Given the description of an element on the screen output the (x, y) to click on. 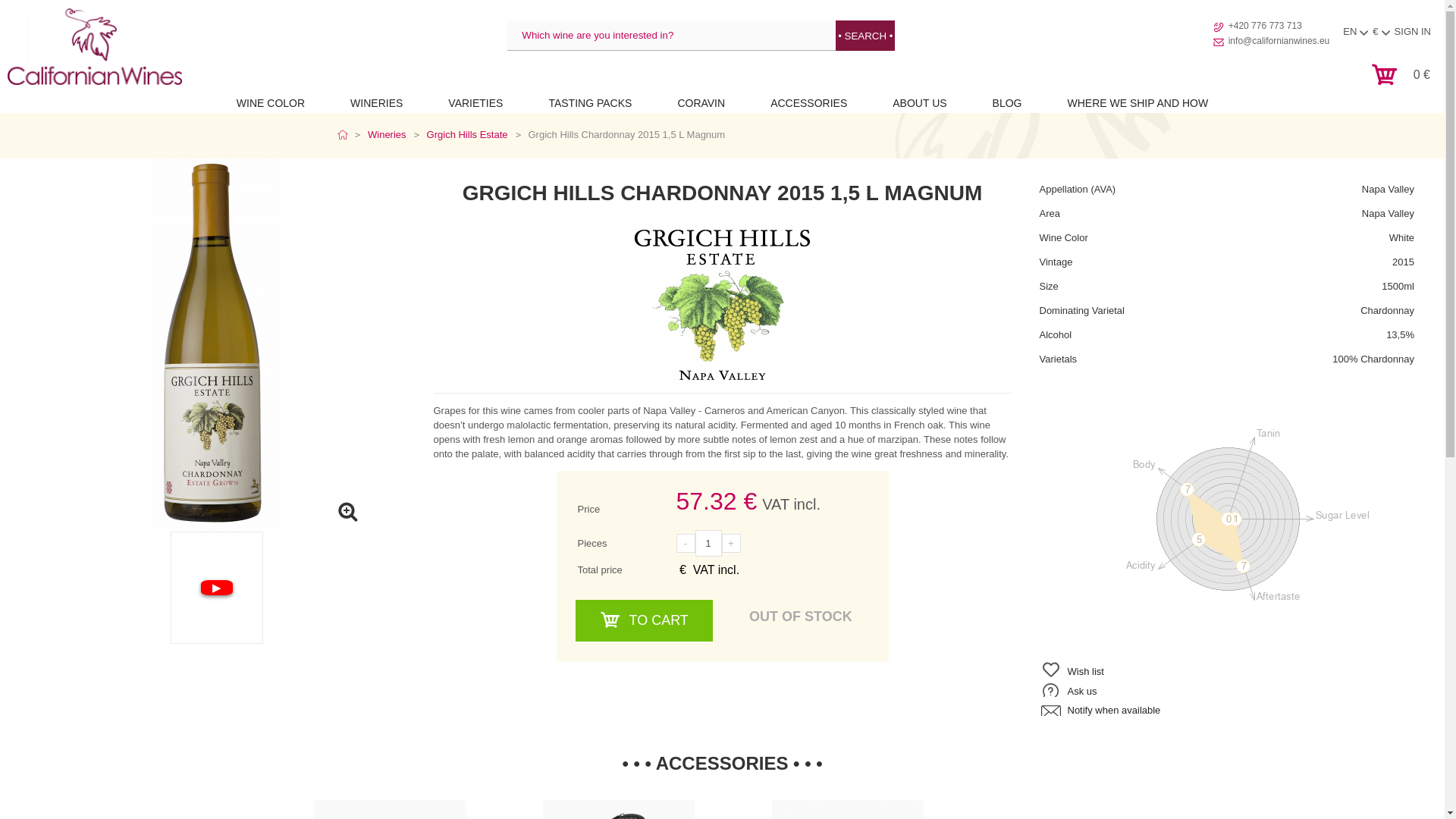
CalifornianWines.eu (94, 46)
Shafer Vineyards  (387, 134)
Grgich Hills Chardonnay 2015 1,5 L Magnum (722, 192)
1 (707, 542)
Grgich Hills Estate (467, 134)
WINE COLOR (270, 103)
Kyselina (1142, 566)
Cukernatost (1342, 514)
Coravin Pure capsules - 6 pcs (389, 809)
